Given the description of an element on the screen output the (x, y) to click on. 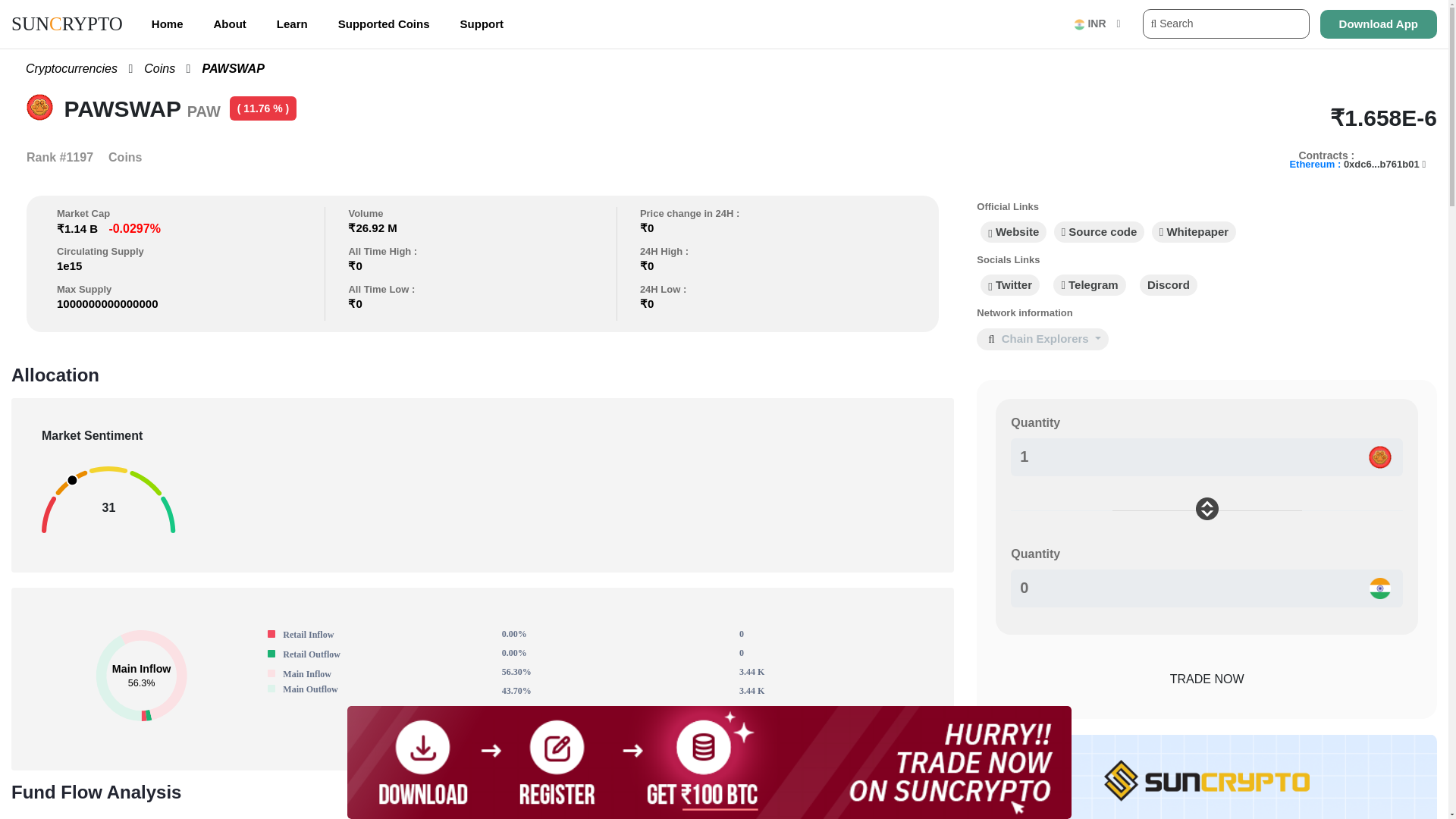
SUNCRYPTO (66, 23)
PAWSWAP (226, 68)
Discord (1168, 284)
TRADE NOW (1206, 681)
Coins (153, 68)
Whitepaper (1193, 231)
About (229, 23)
Supported Coins (383, 23)
Search         (1225, 23)
Download App (1378, 23)
Telegram (1089, 284)
Cryptocurrencies (65, 68)
Chain Explorers (1050, 339)
1 (1206, 456)
Website (1013, 231)
